Given the description of an element on the screen output the (x, y) to click on. 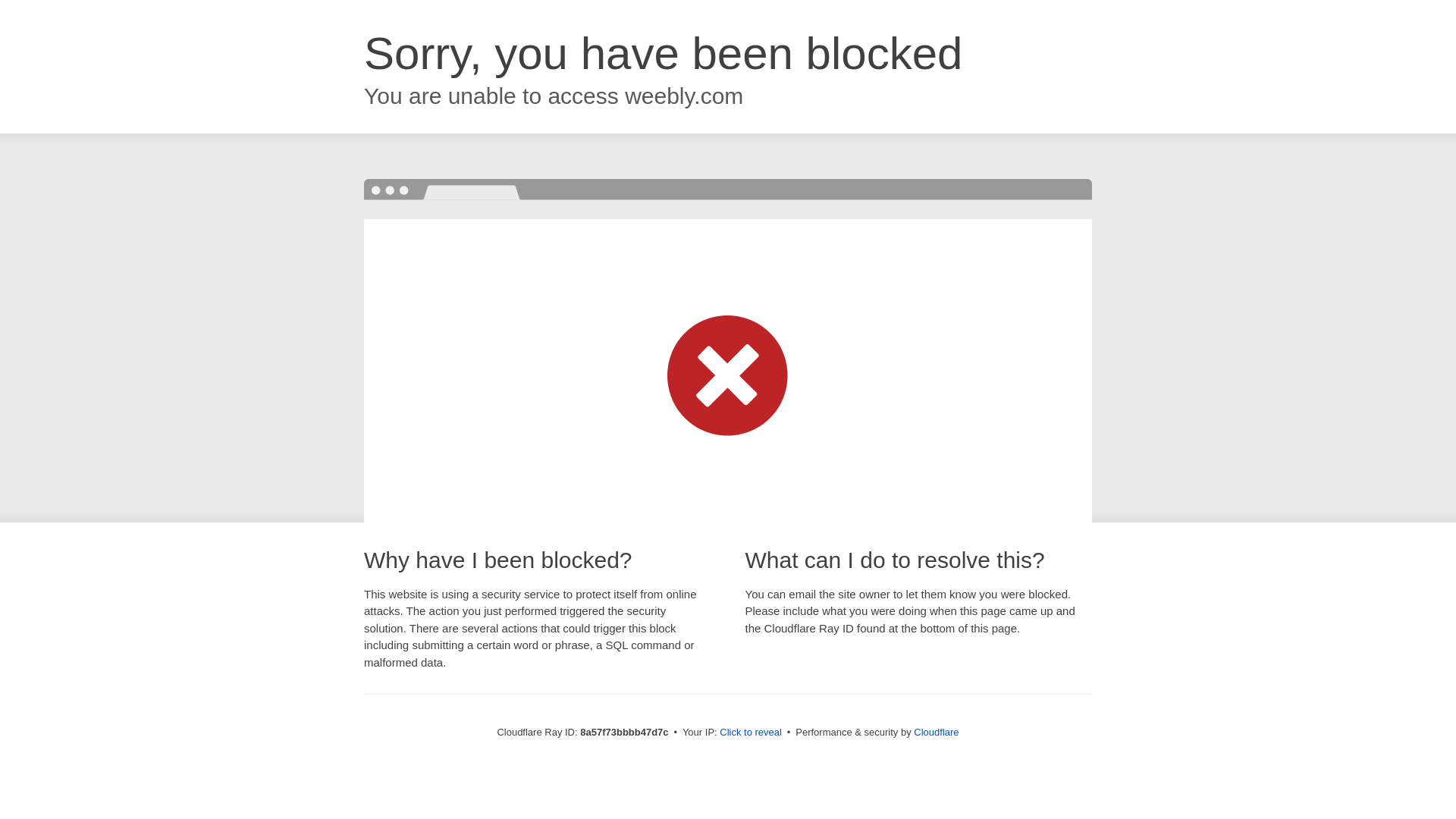
Cloudflare (936, 731)
Click to reveal (750, 732)
